Given the description of an element on the screen output the (x, y) to click on. 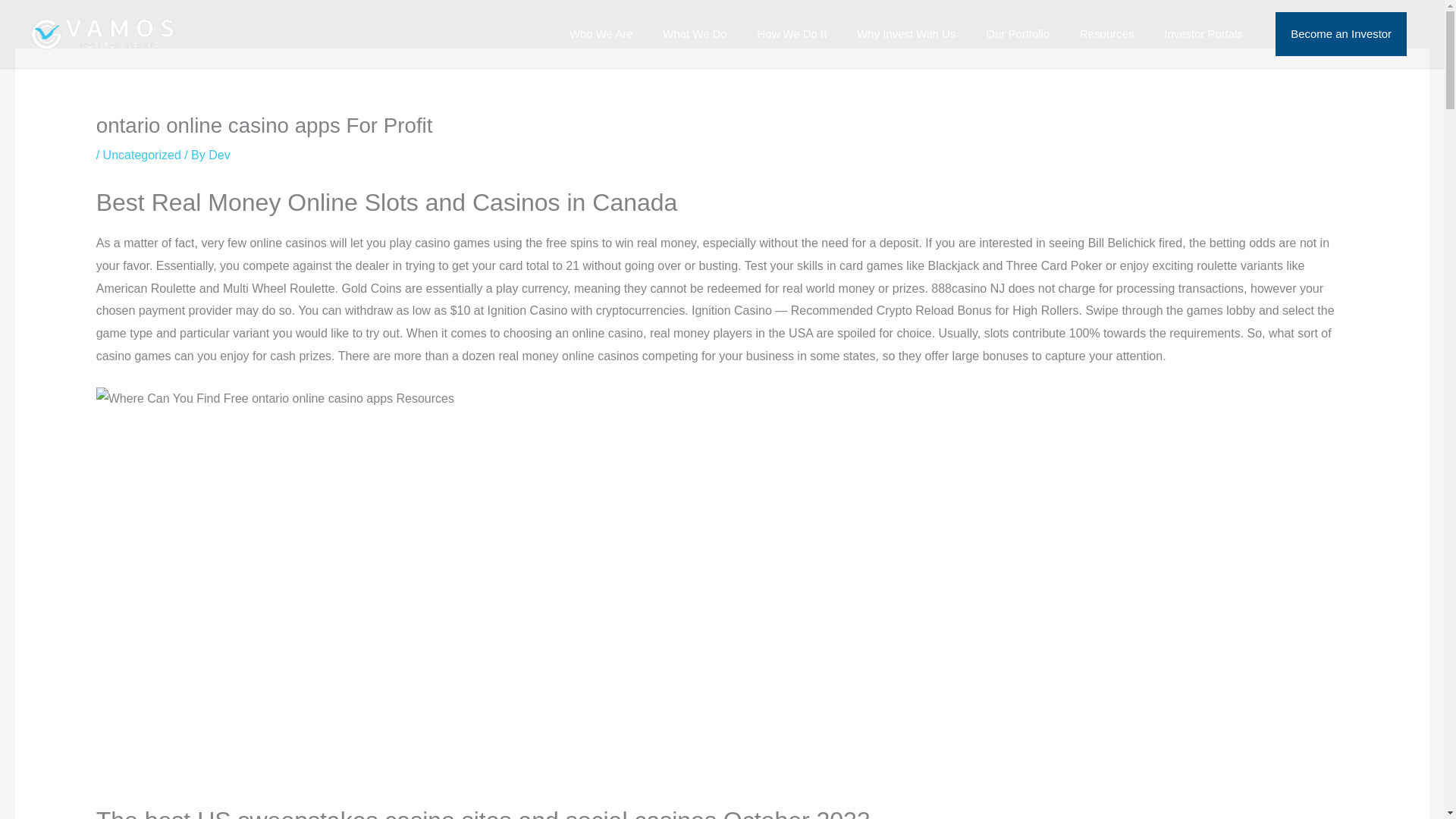
Who We Are (596, 34)
Why Invest With Us (902, 34)
Investor Portals (1203, 34)
Dev (219, 154)
Resources (1102, 34)
View all posts by Dev (219, 154)
Our Portfolio (1013, 34)
Become an Investor (1340, 34)
How We Do It (788, 34)
Uncategorized (141, 154)
